Given the description of an element on the screen output the (x, y) to click on. 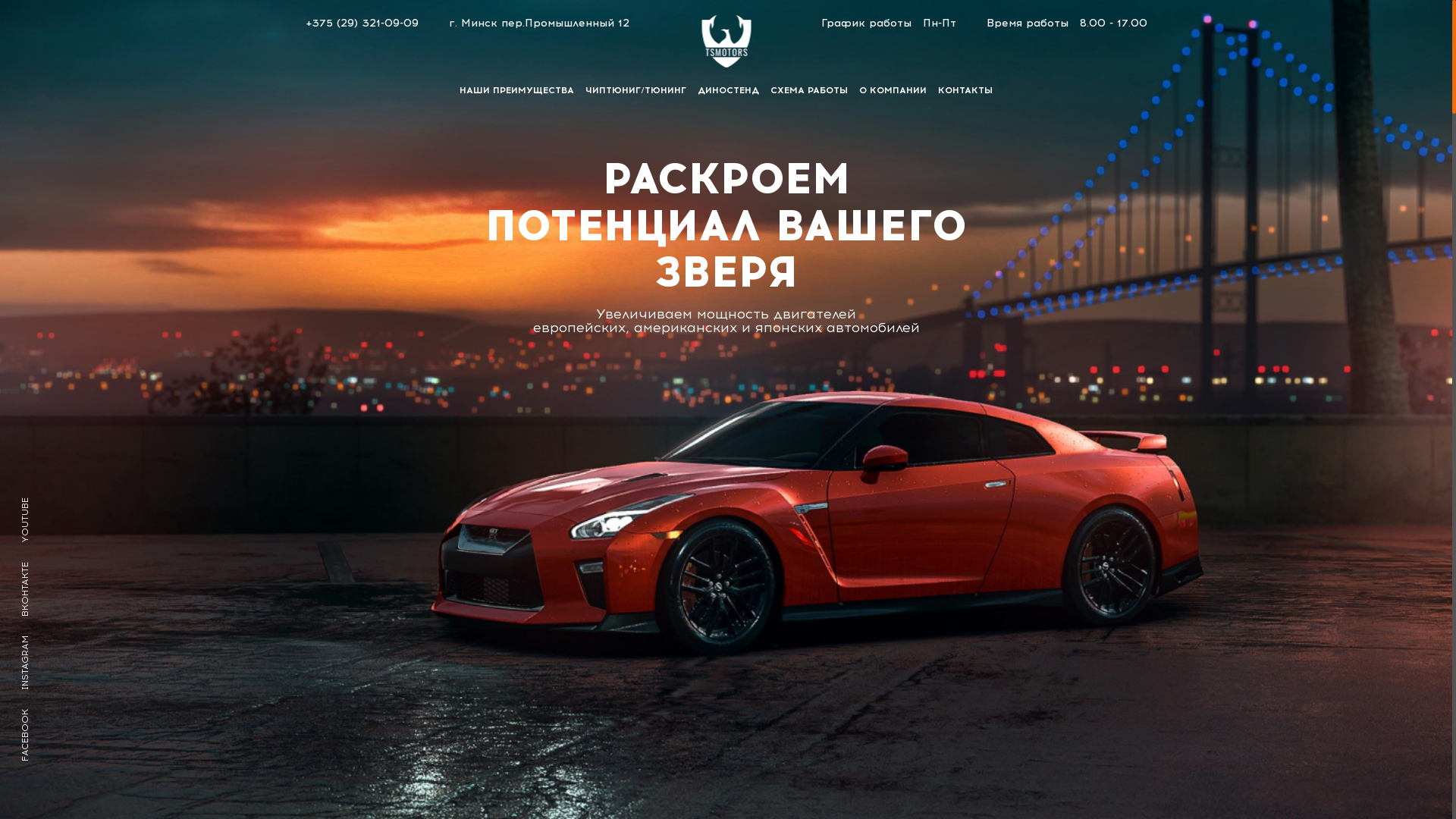
+375 (29) 321-09-09 Element type: text (360, 22)
YOUTUBE Element type: text (24, 519)
FACEBOOK Element type: text (24, 735)
INSTAGRAM Element type: text (24, 662)
